Given the description of an element on the screen output the (x, y) to click on. 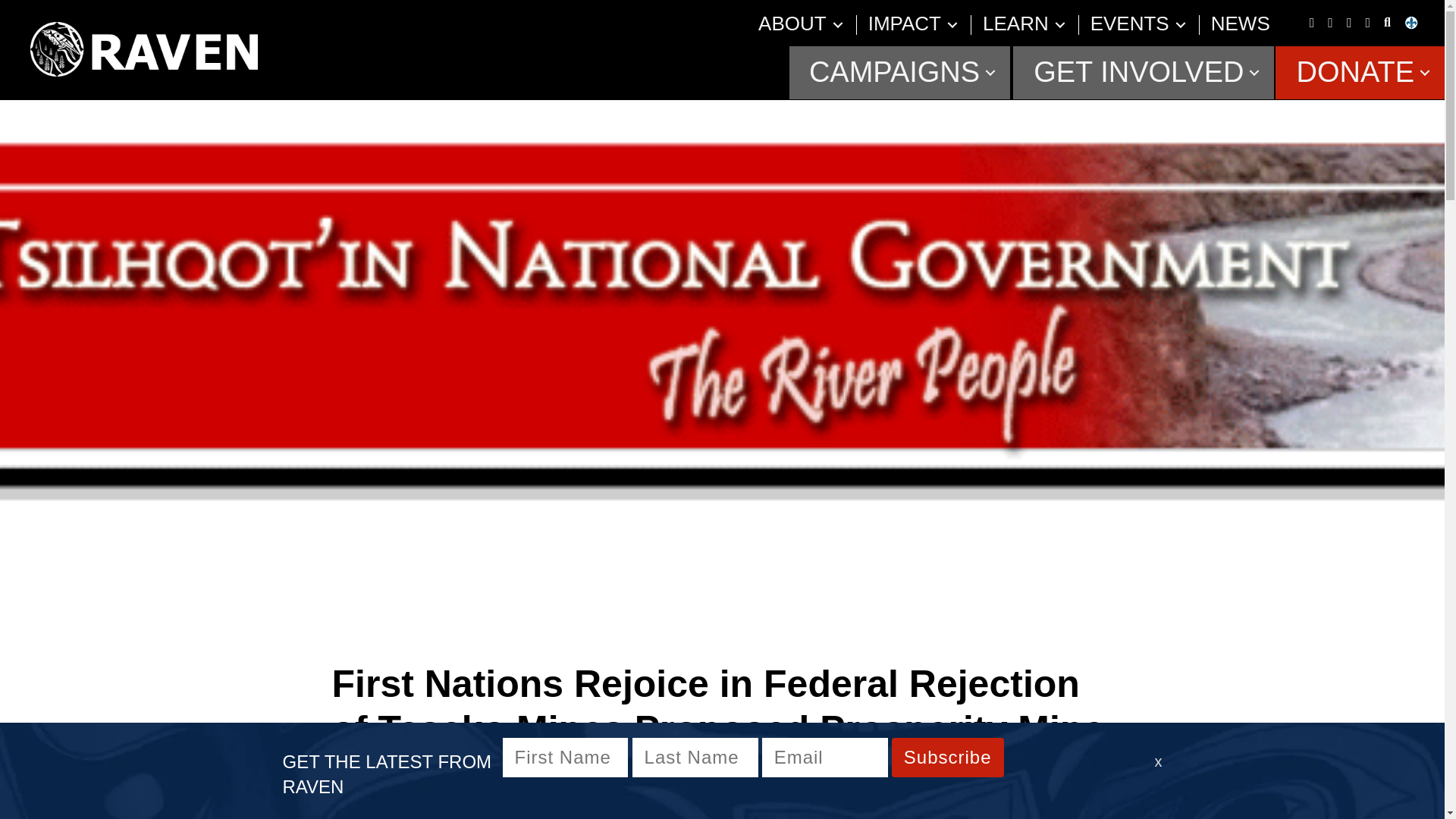
CAMPAIGNS (899, 72)
IMPACT (904, 24)
NEWS (1240, 24)
ABOUT (792, 24)
Subscribe (947, 757)
EVENTS (1129, 24)
LEARN (1015, 24)
Asset 1 (143, 49)
